Given the description of an element on the screen output the (x, y) to click on. 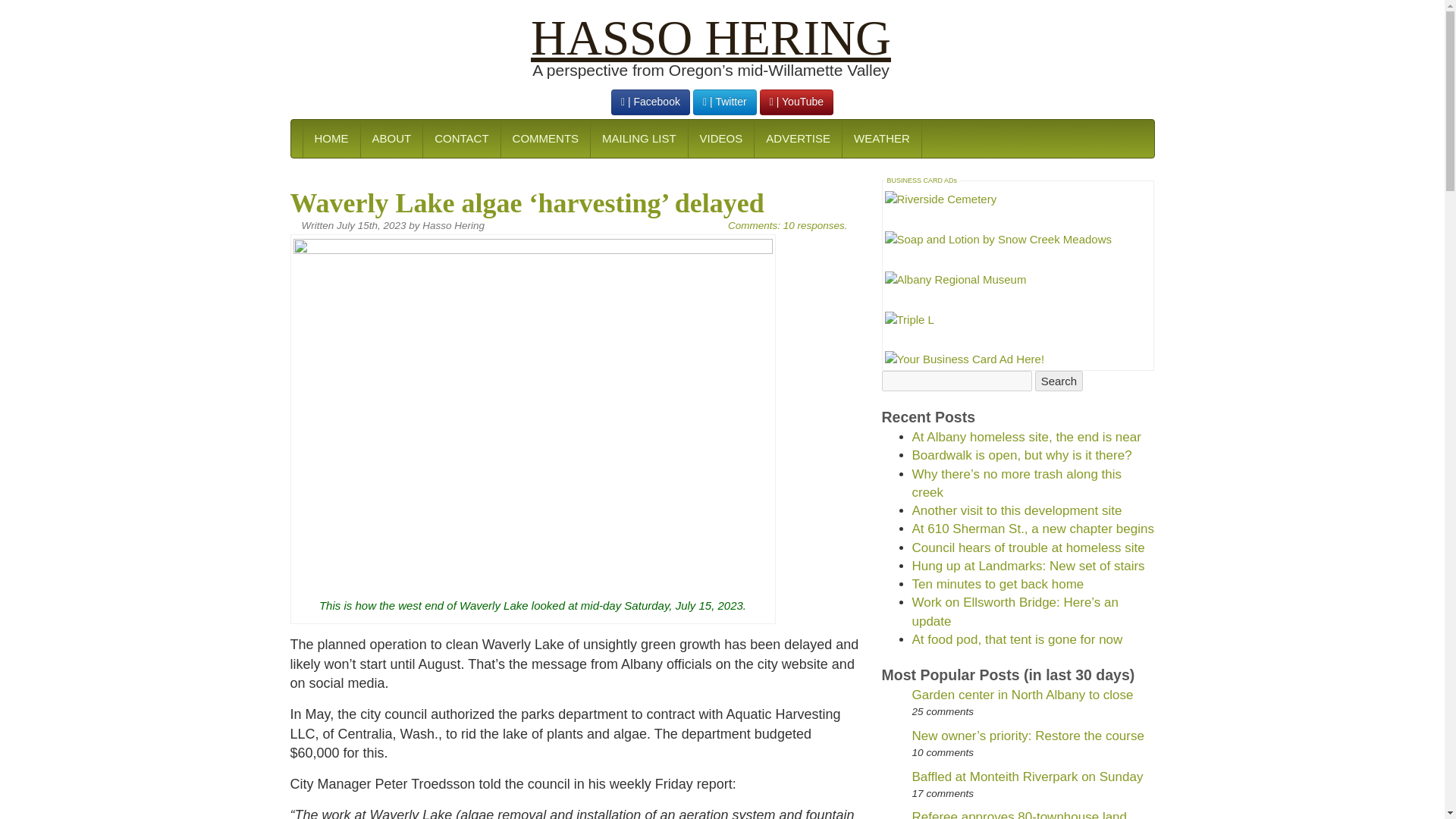
Hasso Hering (711, 37)
ADVERTISE (797, 138)
BUSINESS CARD ADs (922, 180)
ABOUT (390, 138)
HOME (330, 138)
CONTACT (460, 138)
WEATHER (881, 138)
VIDEOS (720, 138)
HASSO HERING (711, 37)
Comments: 10 responses. (787, 225)
